Given the description of an element on the screen output the (x, y) to click on. 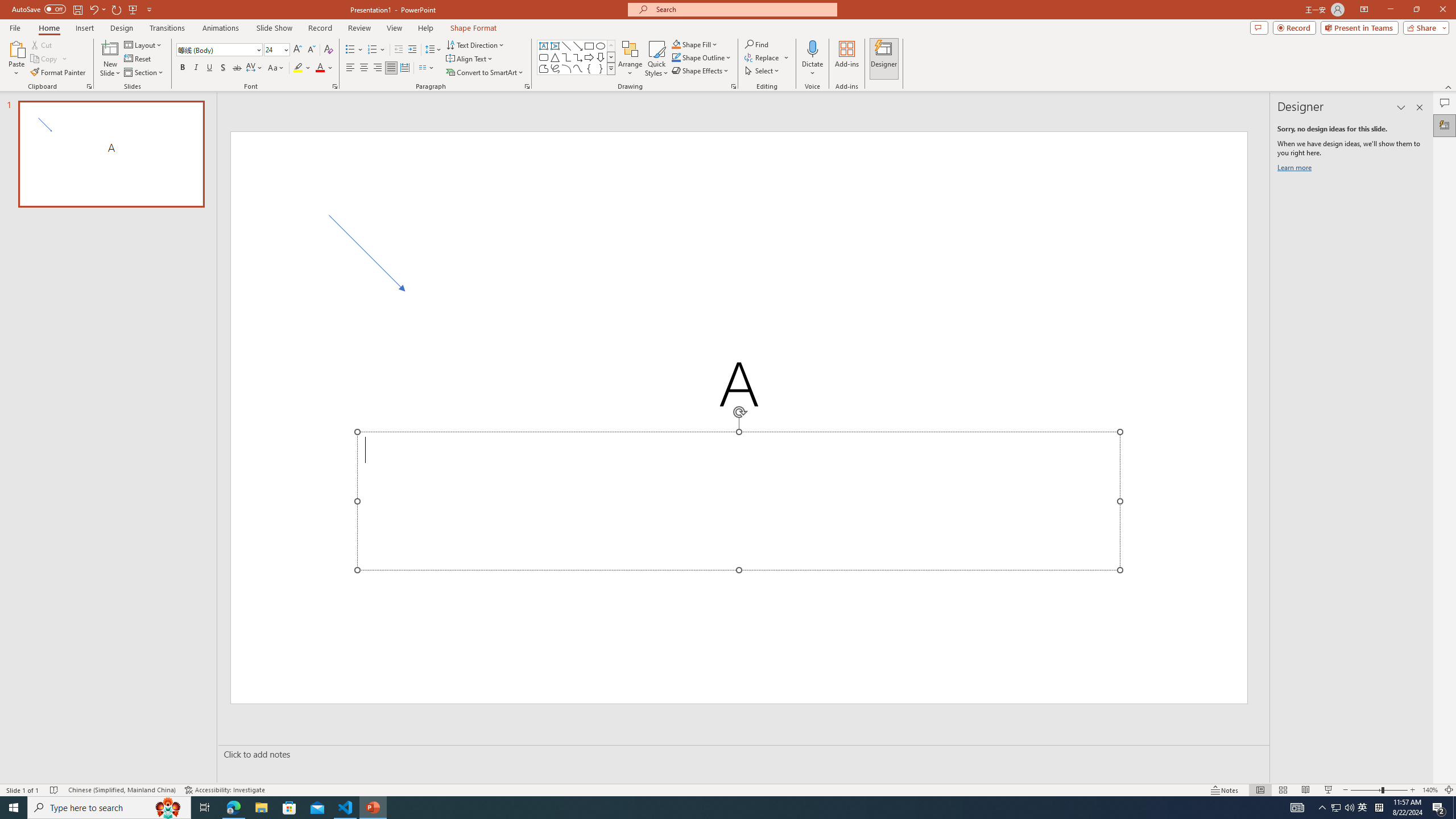
Shape Fill Orange, Accent 2 (675, 44)
